Given the description of an element on the screen output the (x, y) to click on. 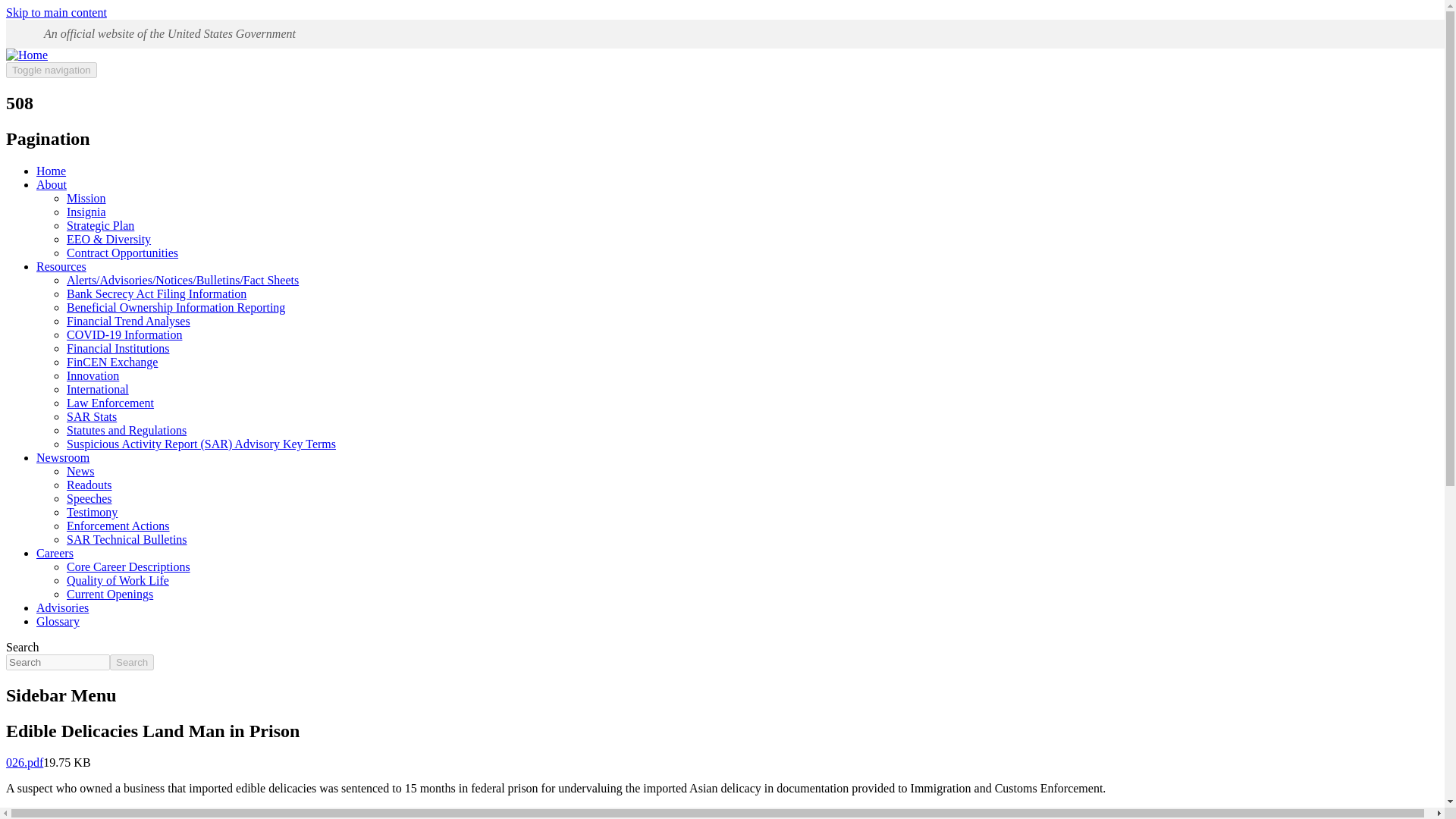
Home (26, 54)
Current Openings (109, 594)
Bank Secrecy Act Filing Information (156, 293)
Enforcement Actions (118, 525)
SAR Technical Bulletins (126, 539)
Office of Equal Opportunity and Diversity (108, 238)
FinCEN's Innovation Page (92, 375)
Speeches (89, 498)
Beneficial Ownership Information Reporting (175, 307)
Testimony (91, 512)
About (51, 184)
Advisories (62, 607)
International Home (97, 389)
Law Enforcement (110, 402)
Contract Opportunities (121, 252)
